Given the description of an element on the screen output the (x, y) to click on. 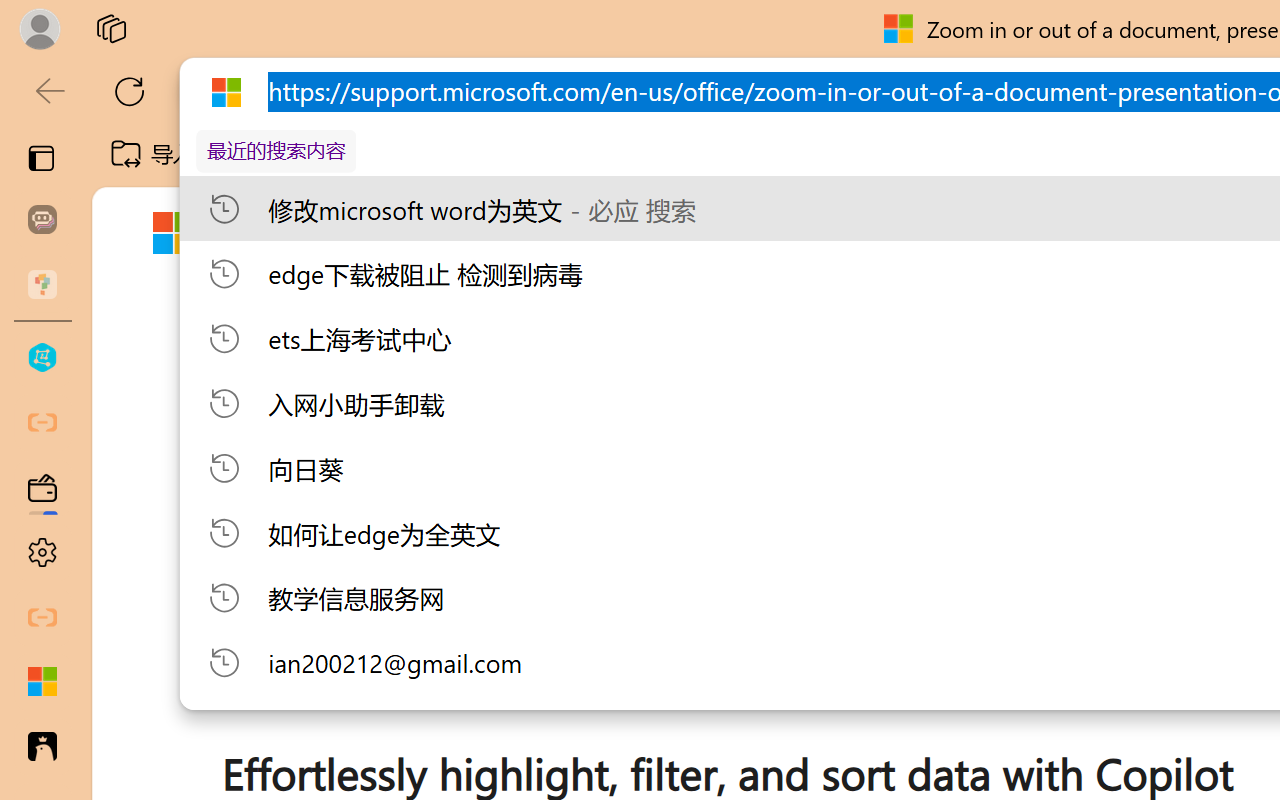
Microsoft (257, 237)
Office (785, 231)
Microsoft 365 (646, 232)
wangyian_dsw - DSW (42, 357)
Office (785, 232)
